Given the description of an element on the screen output the (x, y) to click on. 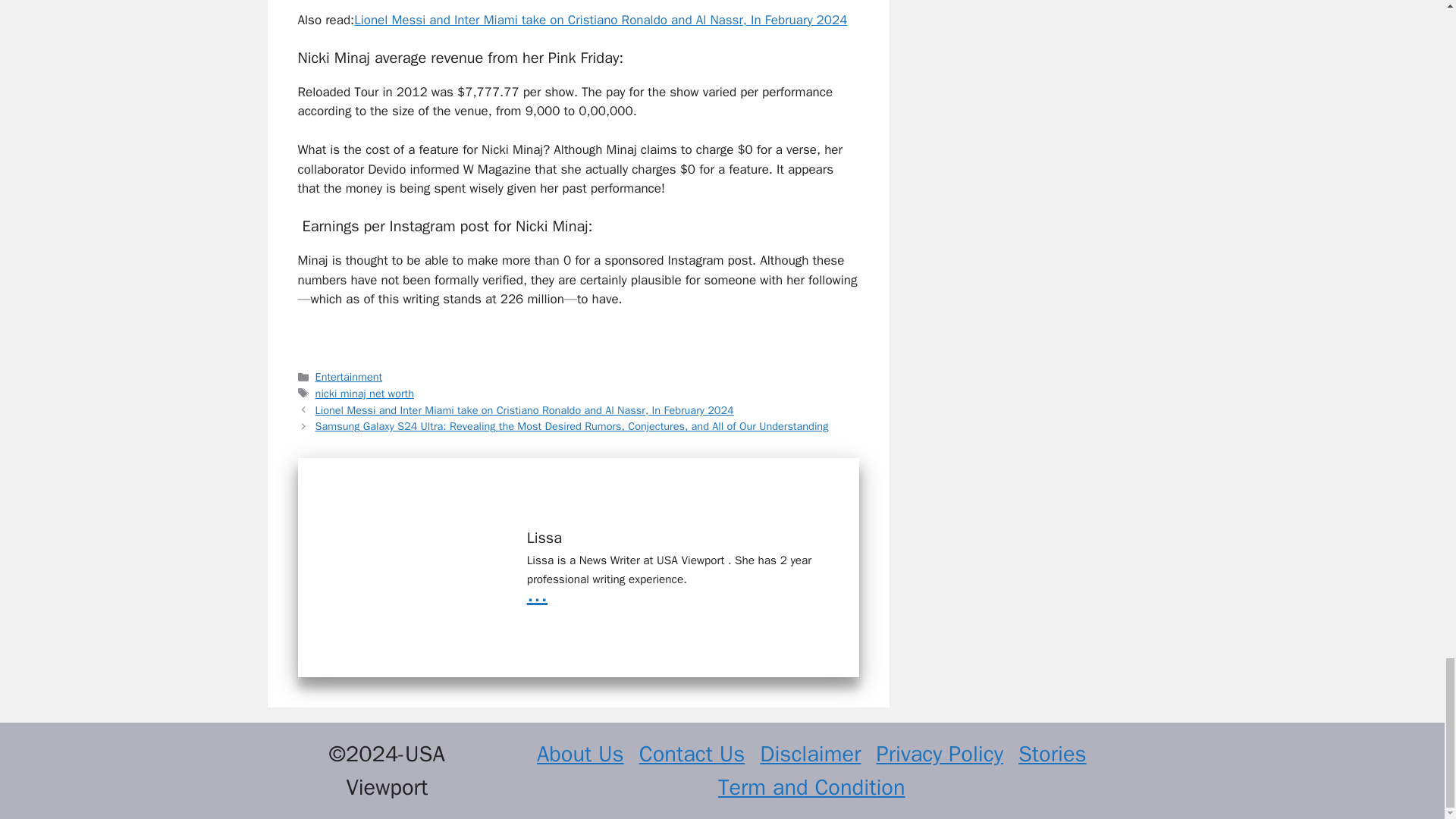
nicki minaj net worth (364, 393)
Entertainment (348, 377)
